Given the description of an element on the screen output the (x, y) to click on. 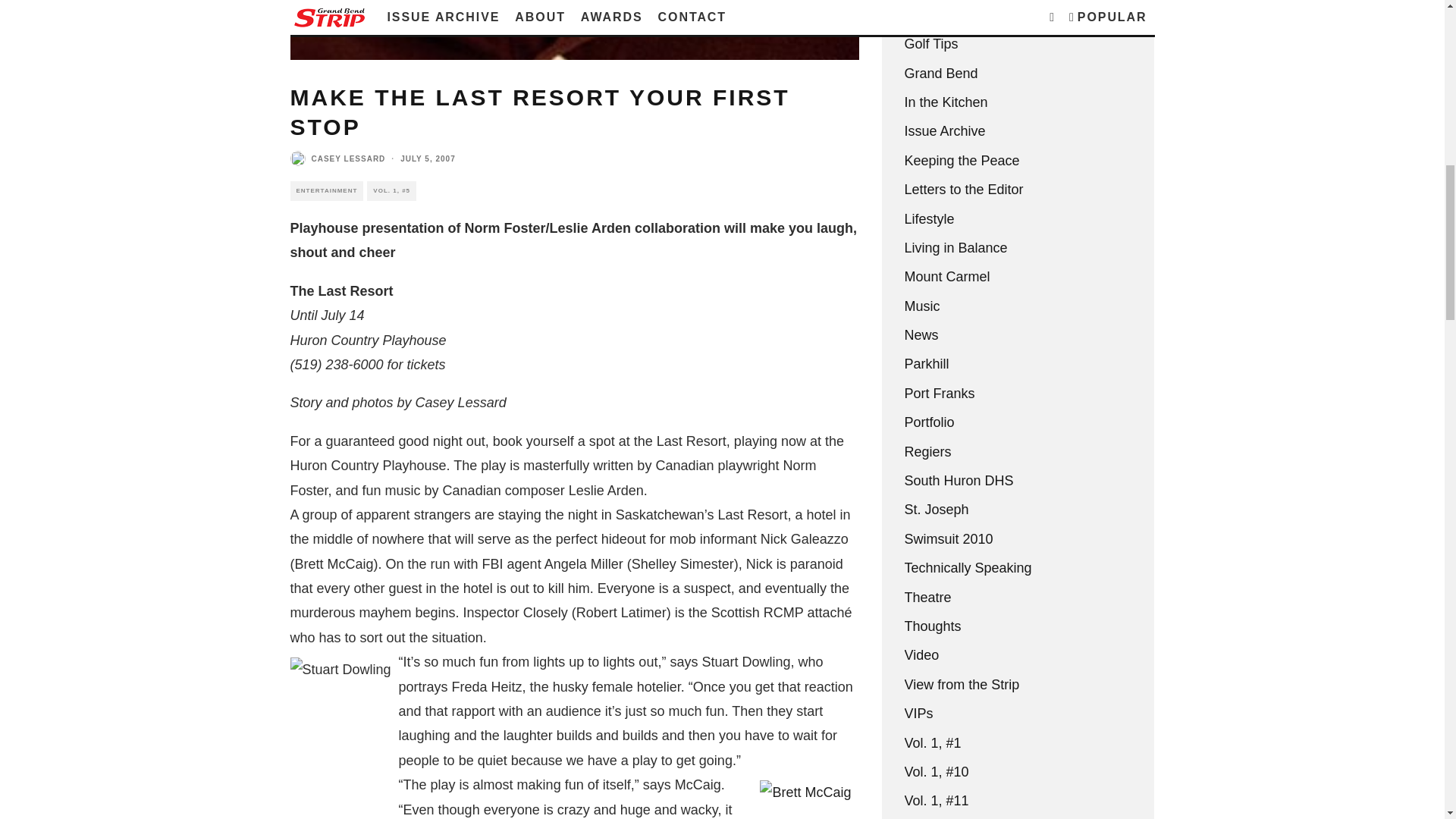
ENTERTAINMENT (325, 190)
CASEY LESSARD (348, 158)
